Given the description of an element on the screen output the (x, y) to click on. 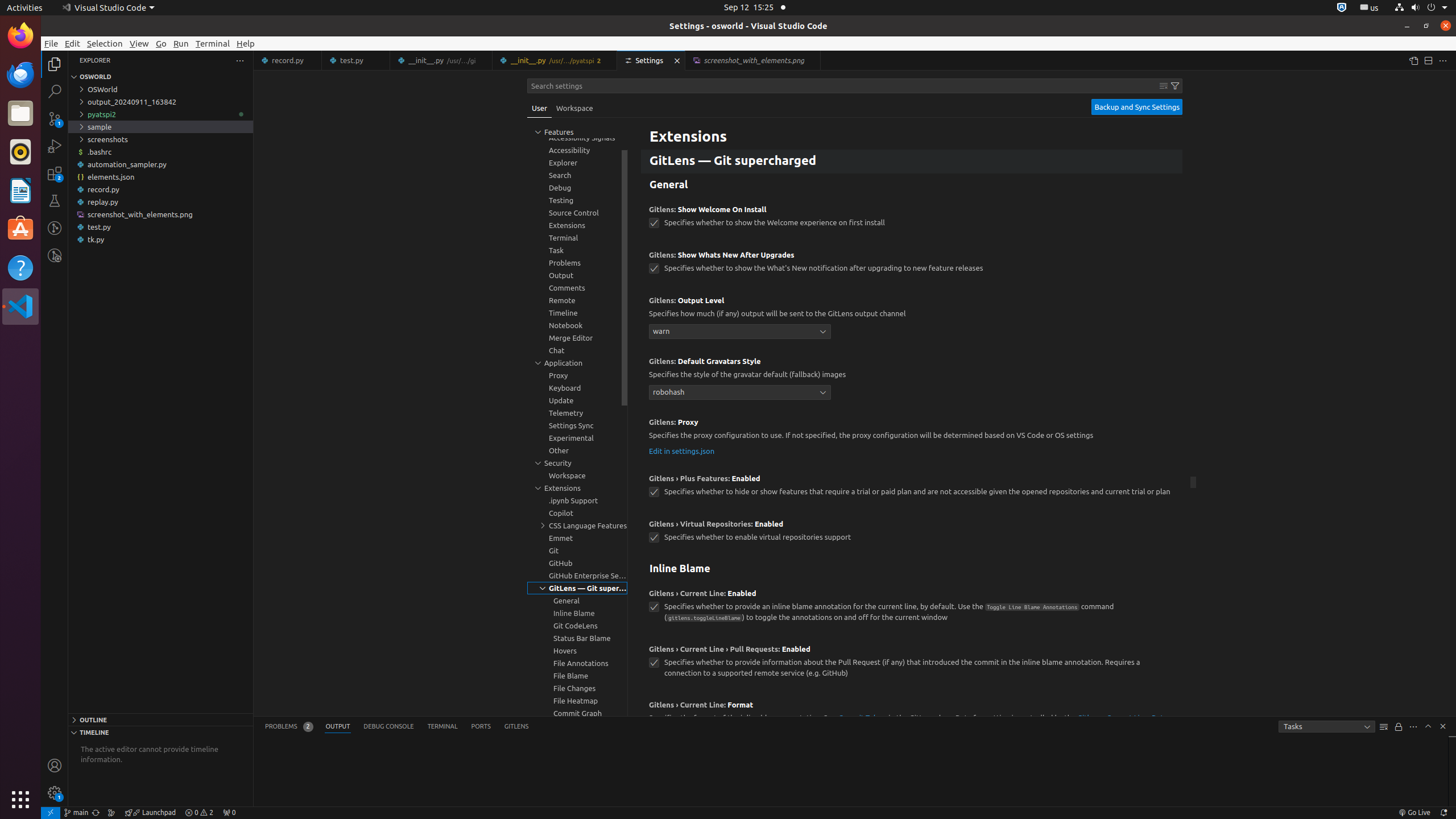
Hide Panel Element type: push-button (1442, 726)
Testing, group Element type: tree-item (577, 199)
Settings Element type: page-tab (651, 60)
Hovers, group Element type: tree-item (577, 650)
robohash Element type: menu-item (739, 391)
